Given the description of an element on the screen output the (x, y) to click on. 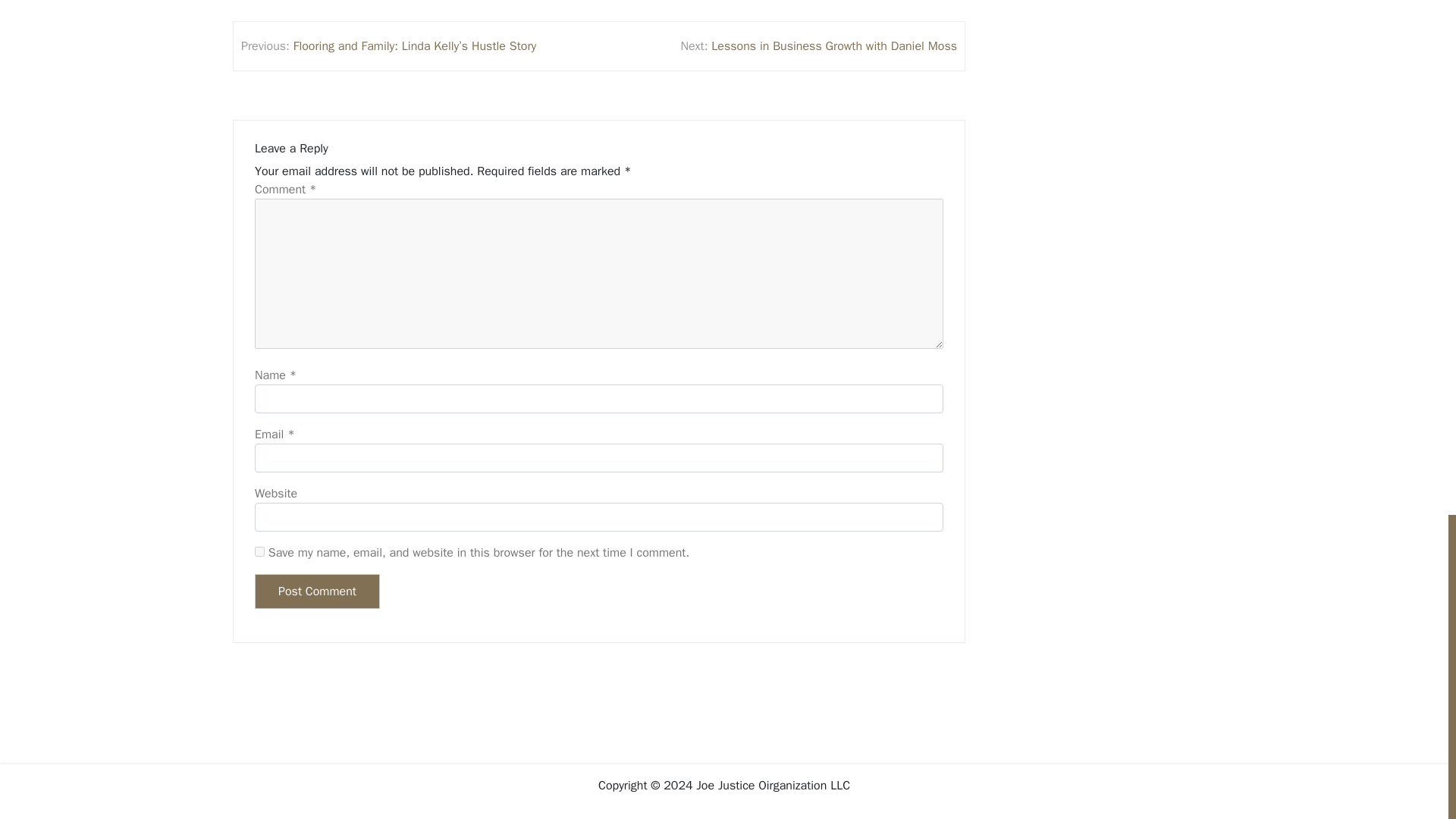
Post Comment (317, 591)
yes (259, 551)
Post Comment (317, 591)
Next: Lessons in Business Growth with Daniel Moss (817, 45)
